Given the description of an element on the screen output the (x, y) to click on. 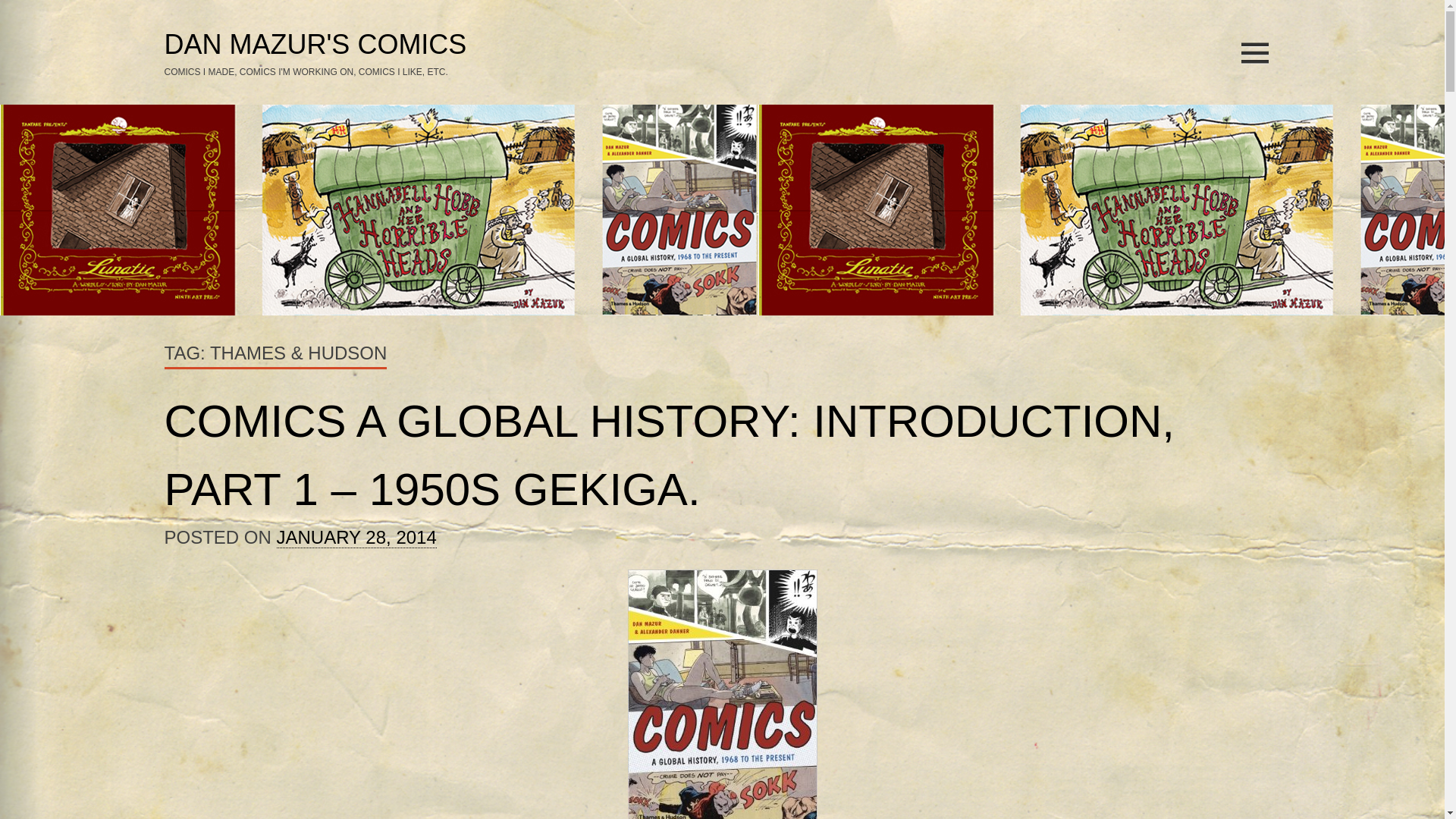
DAN MAZUR'S COMICS (314, 44)
cover final (721, 694)
JANUARY 28, 2014 (356, 537)
